Given the description of an element on the screen output the (x, y) to click on. 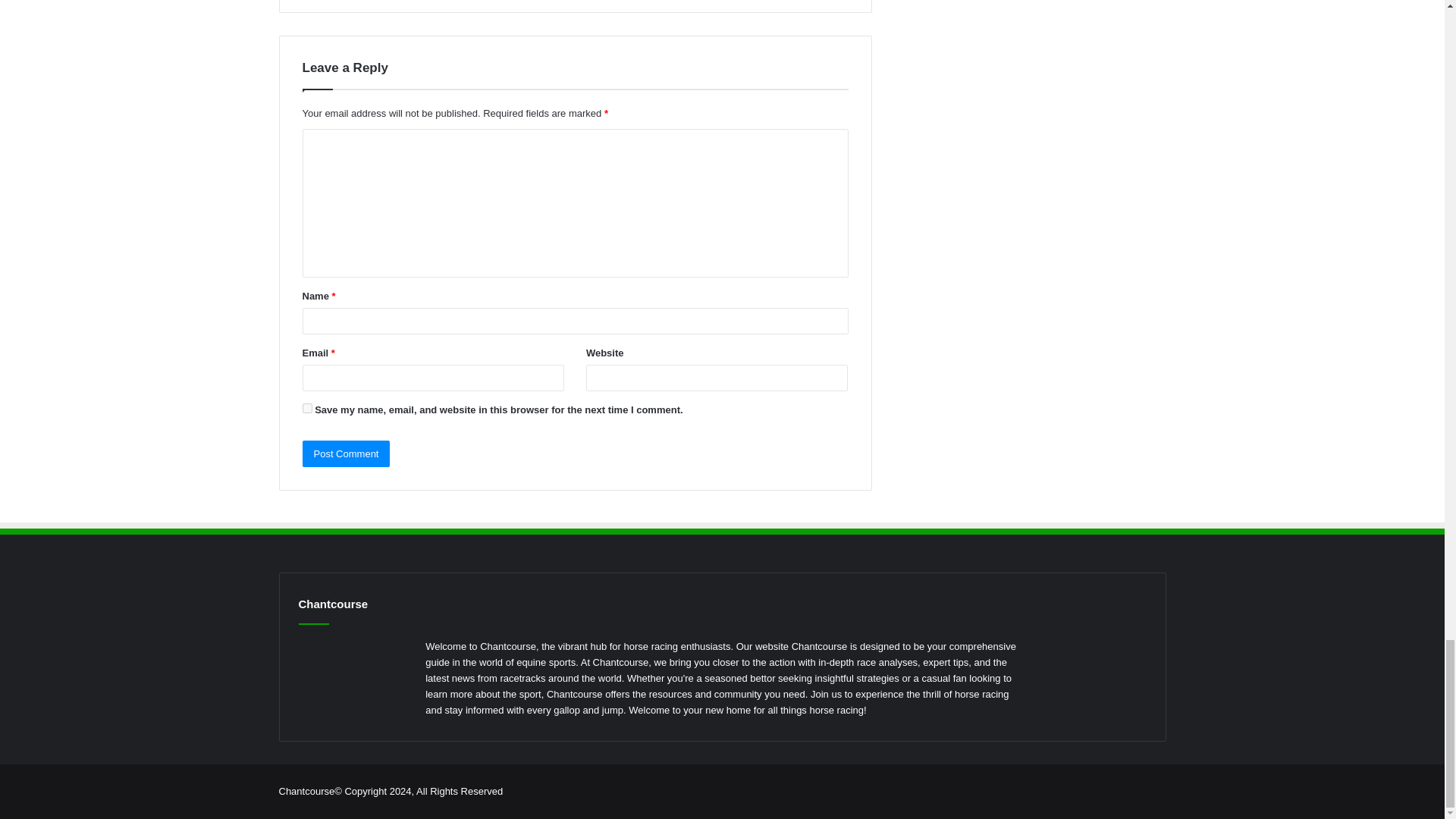
yes (306, 408)
Post Comment (345, 453)
